Given the description of an element on the screen output the (x, y) to click on. 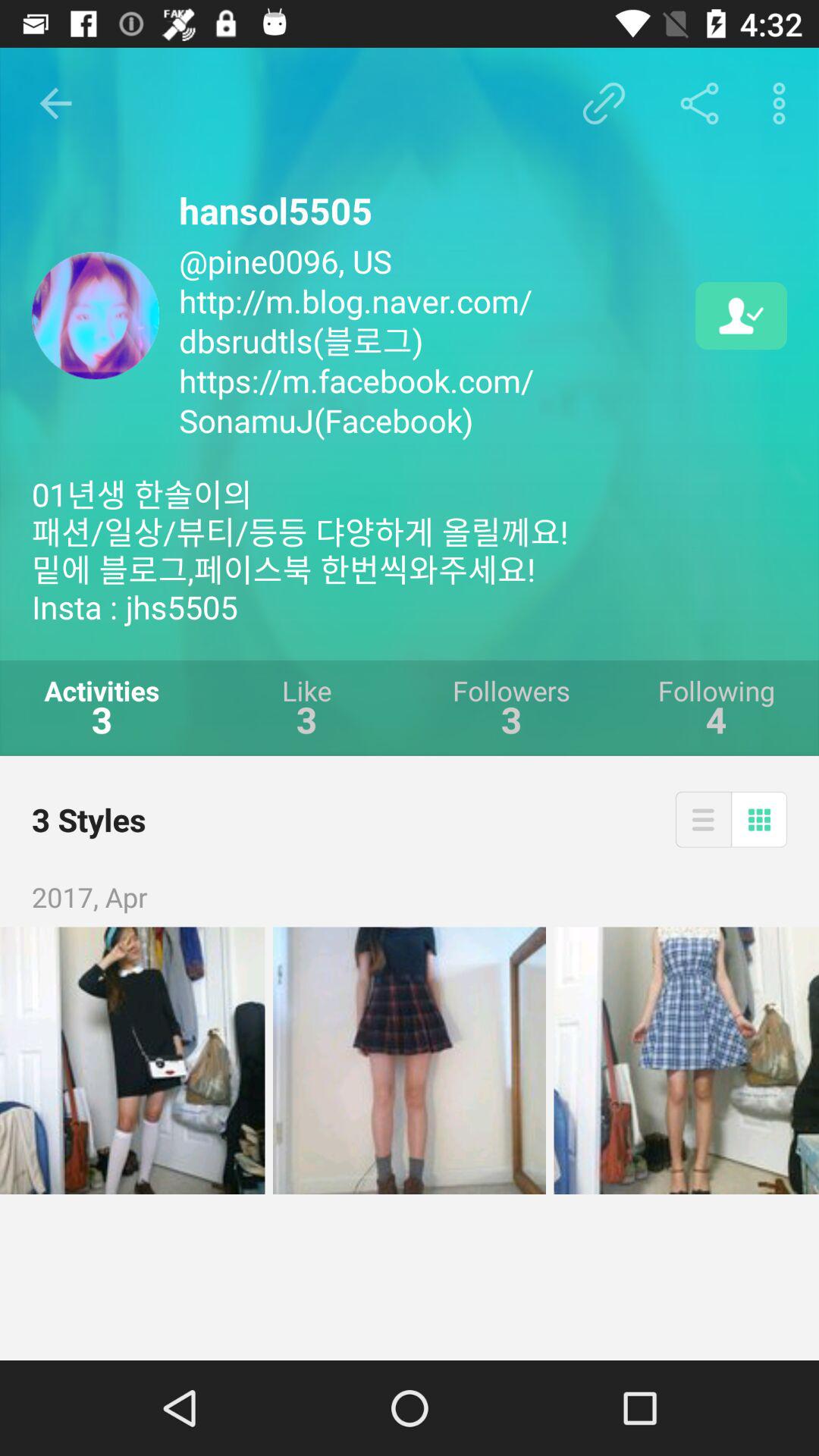
summer dresses (686, 1060)
